Given the description of an element on the screen output the (x, y) to click on. 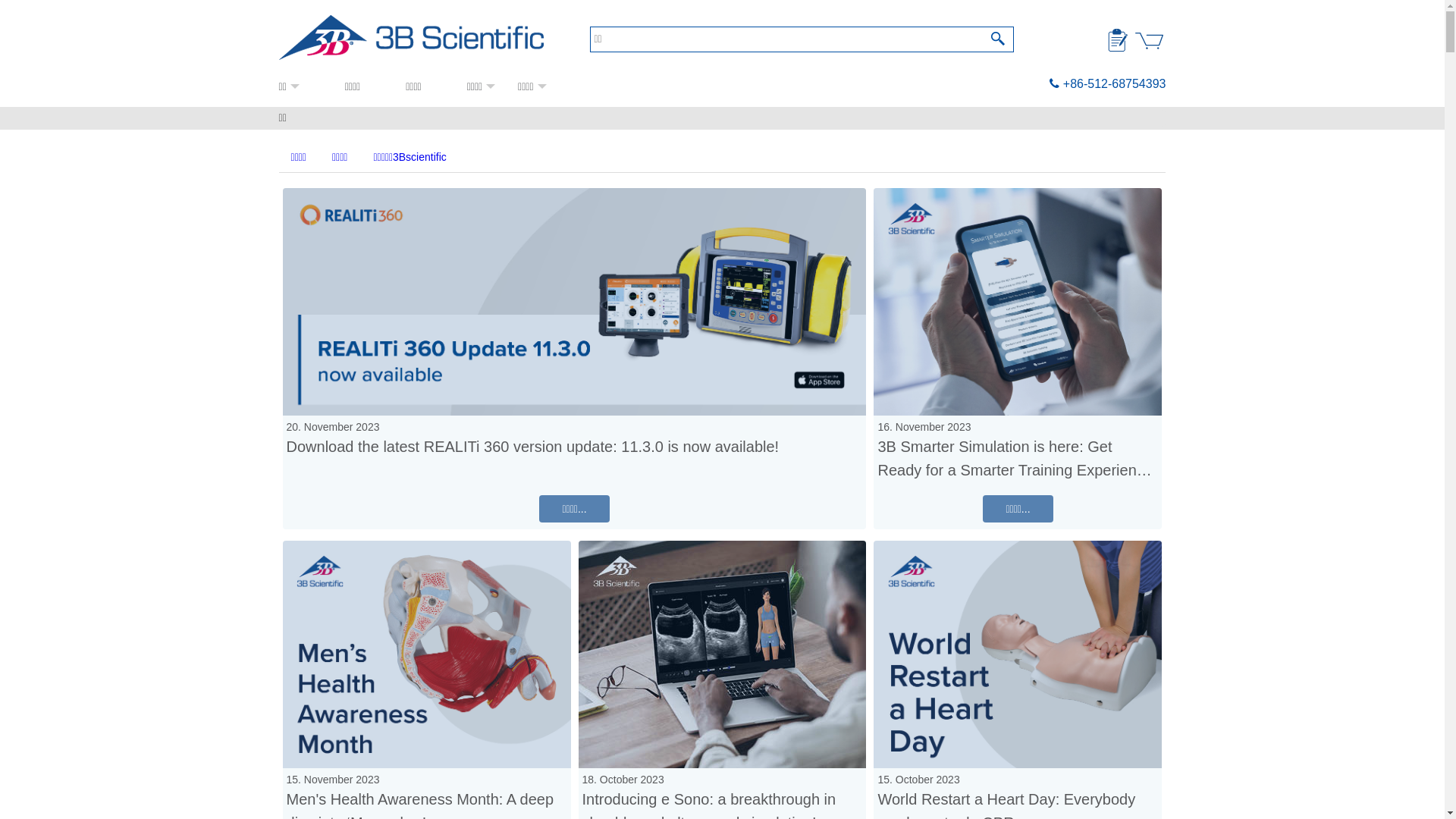
3bscientific.com Element type: hover (419, 37)
